Given the description of an element on the screen output the (x, y) to click on. 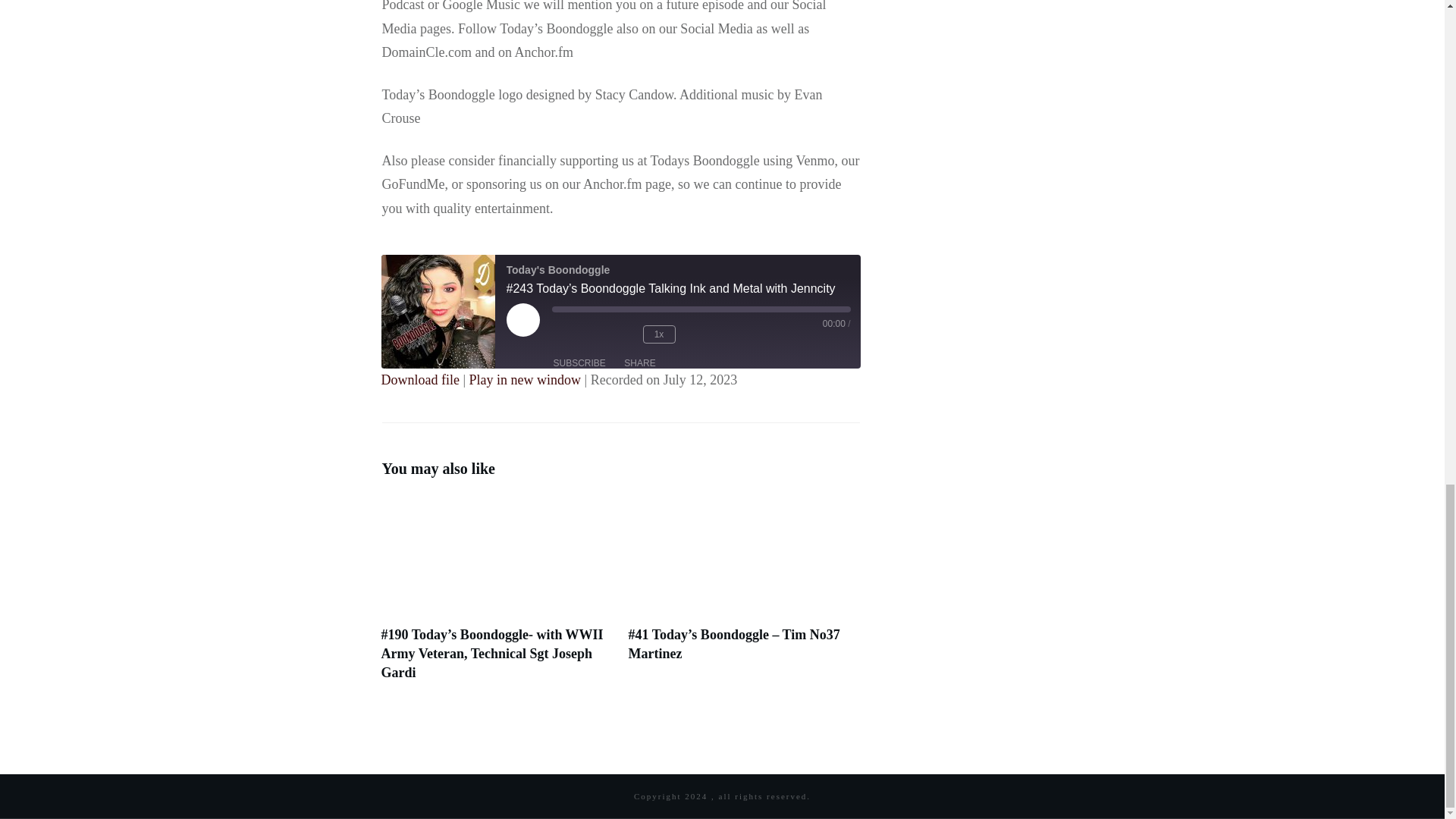
Play Episode (539, 336)
Subscribe (579, 362)
SHARE (638, 362)
Rewind 10 Seconds (619, 334)
Rewind 10 seconds (619, 334)
Share (638, 362)
Playback Speed (659, 334)
Download file (419, 379)
Play (539, 336)
Today's Boondoggle (437, 311)
